Given the description of an element on the screen output the (x, y) to click on. 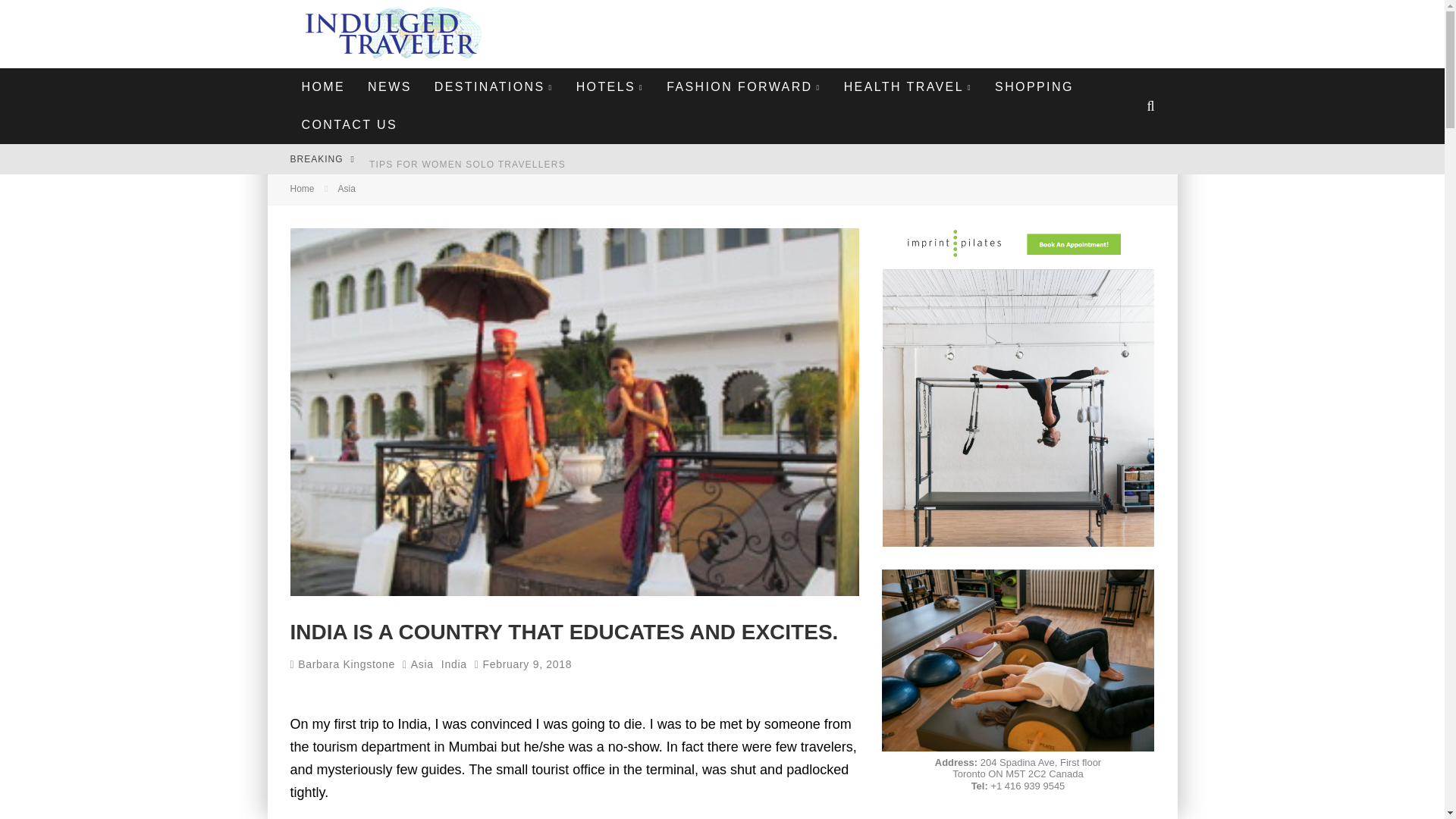
HOME (322, 86)
DESTINATIONS (493, 86)
NEWS (389, 86)
Tips for Women Solo Travellers (467, 163)
